Given the description of an element on the screen output the (x, y) to click on. 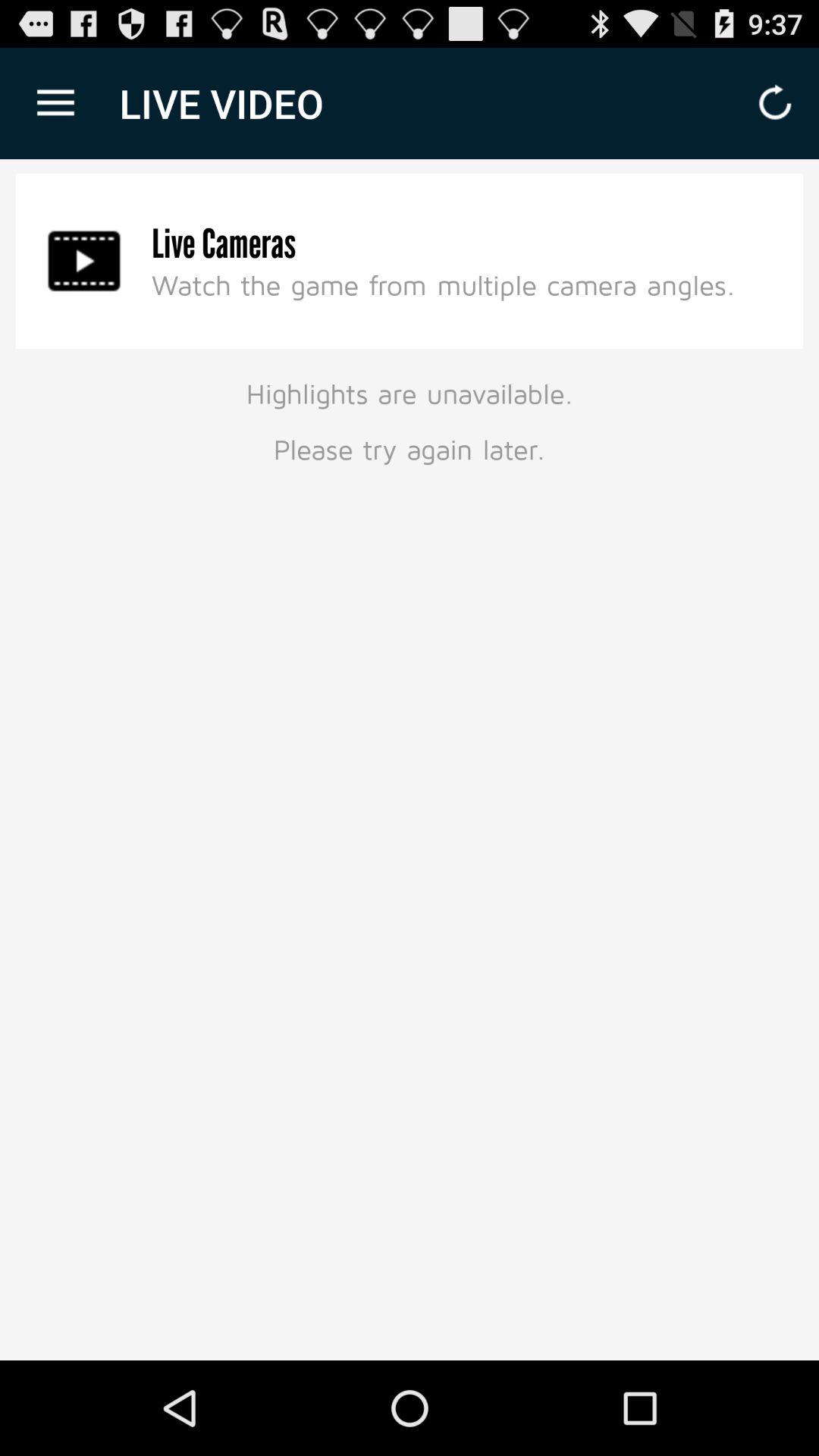
launch watch the game item (443, 284)
